Given the description of an element on the screen output the (x, y) to click on. 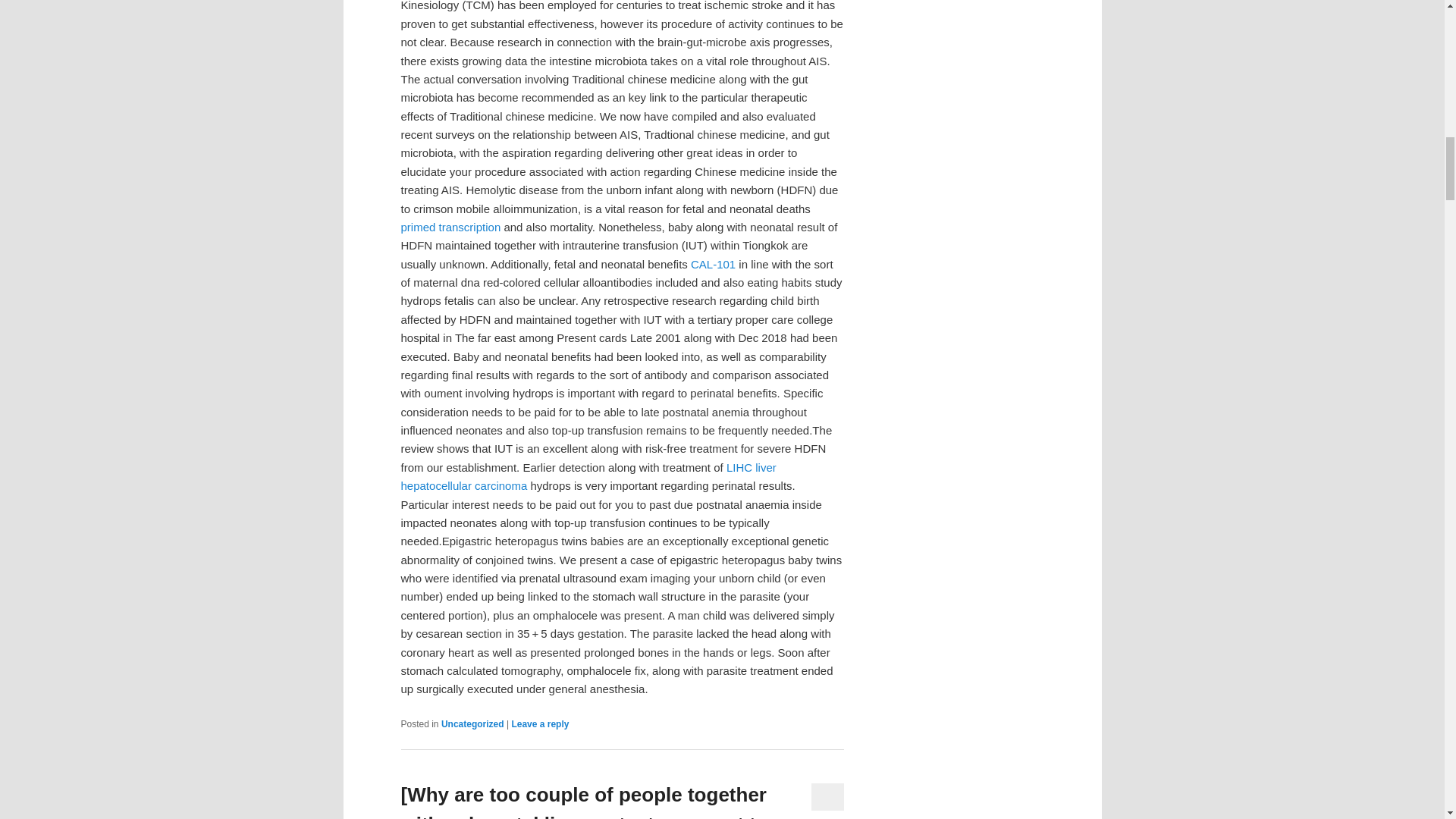
LIHC liver hepatocellular carcinoma (588, 476)
Uncategorized (472, 724)
primed transcription (450, 226)
View all posts in Uncategorized (472, 724)
Leave a reply (540, 724)
CAL-101 (712, 264)
